Given the description of an element on the screen output the (x, y) to click on. 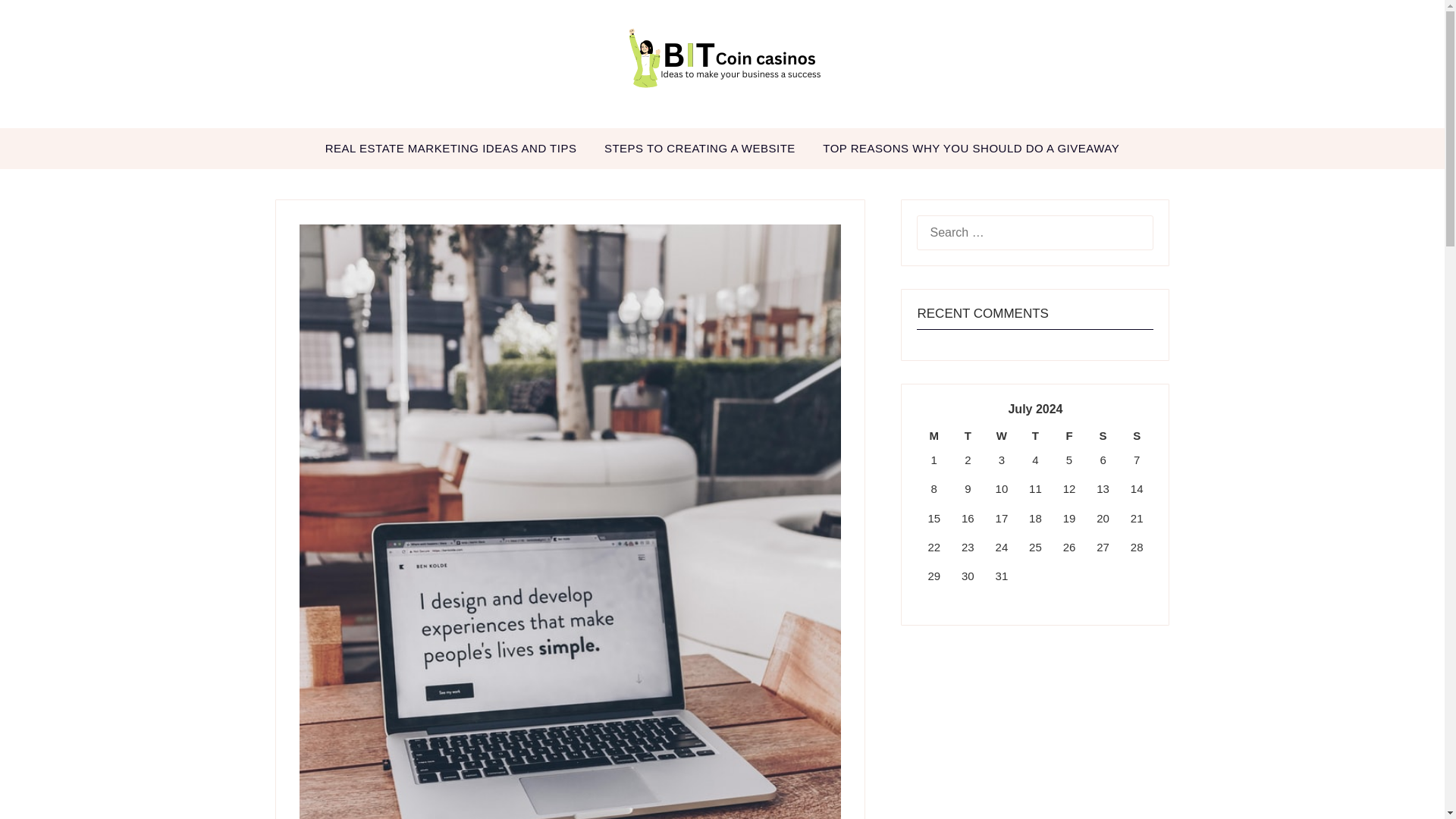
Friday (1069, 435)
TOP REASONS WHY YOU SHOULD DO A GIVEAWAY (970, 147)
Search (38, 22)
Saturday (1102, 435)
Tuesday (967, 435)
Wednesday (1002, 435)
Sunday (1136, 435)
STEPS TO CREATING A WEBSITE (700, 147)
Thursday (1034, 435)
Monday (933, 435)
REAL ESTATE MARKETING IDEAS AND TIPS (451, 147)
